Given the description of an element on the screen output the (x, y) to click on. 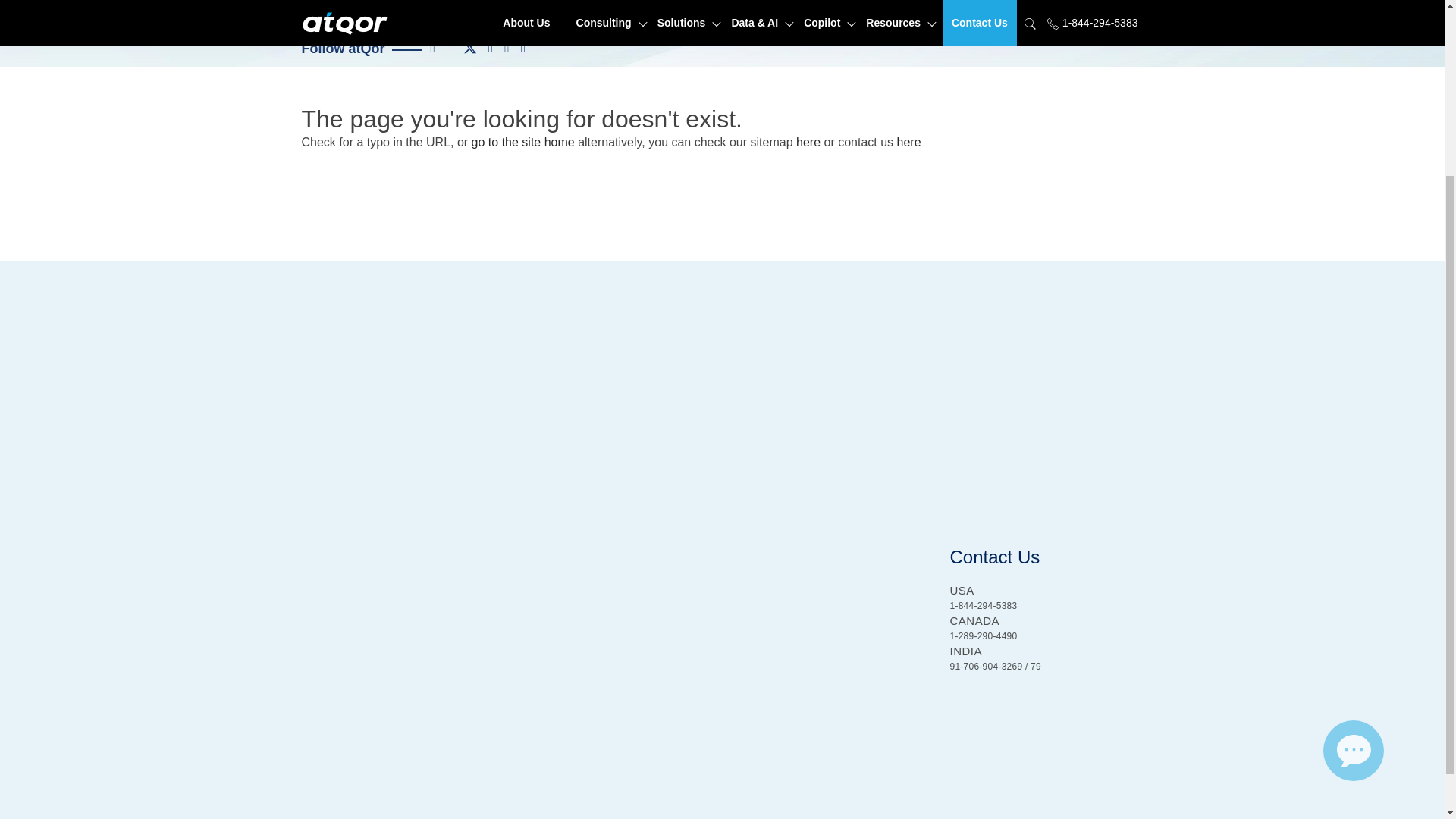
Email (1353, 525)
Home (523, 141)
Sitemap (808, 141)
Contact Bitscape (908, 141)
